Given the description of an element on the screen output the (x, y) to click on. 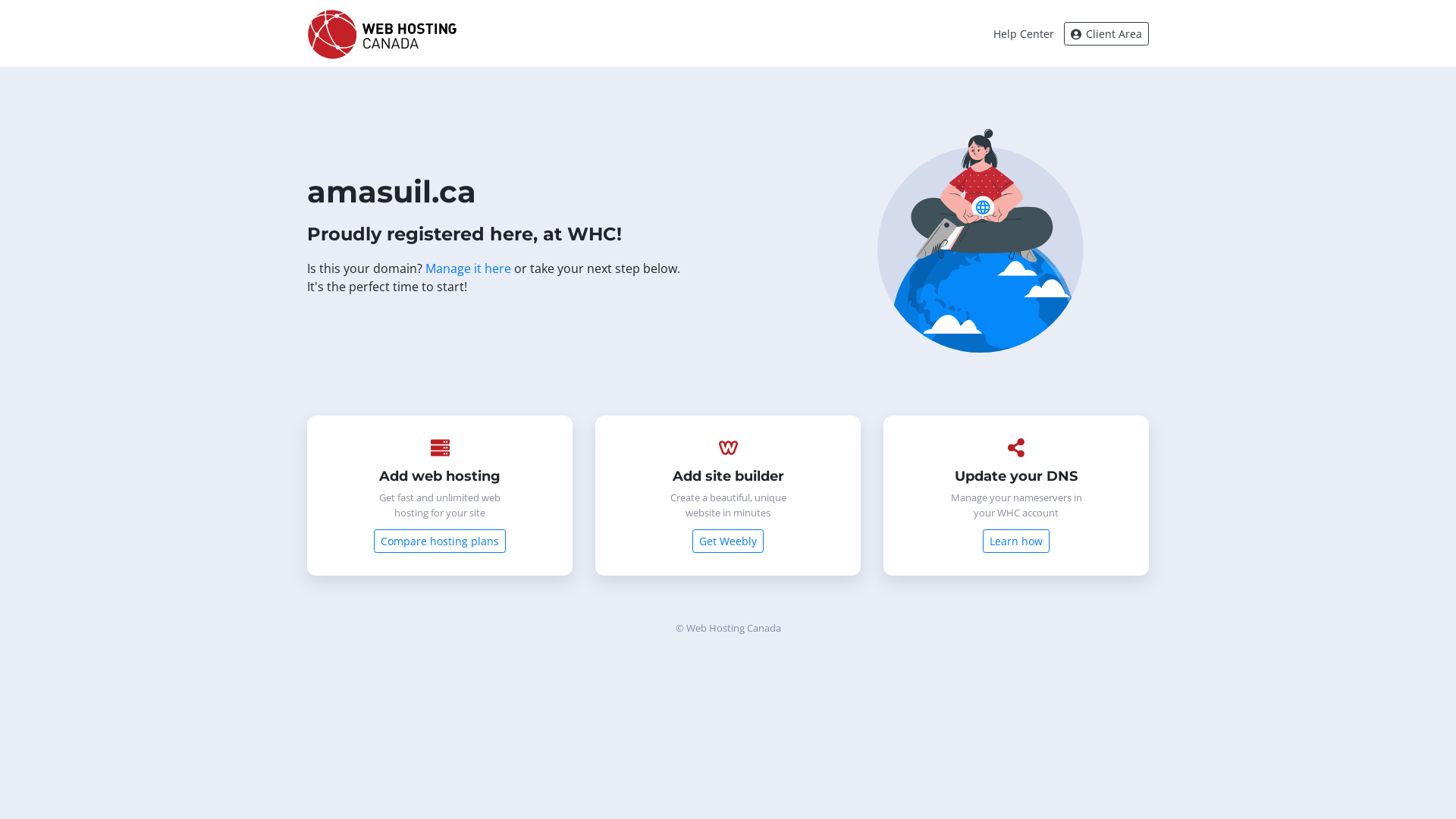
Get Weebly Element type: text (727, 540)
Client Area Element type: text (1105, 33)
Manage it here Element type: text (468, 268)
Help Center Element type: text (1023, 33)
Learn how Element type: text (1015, 540)
Compare hosting plans Element type: text (439, 540)
